Given the description of an element on the screen output the (x, y) to click on. 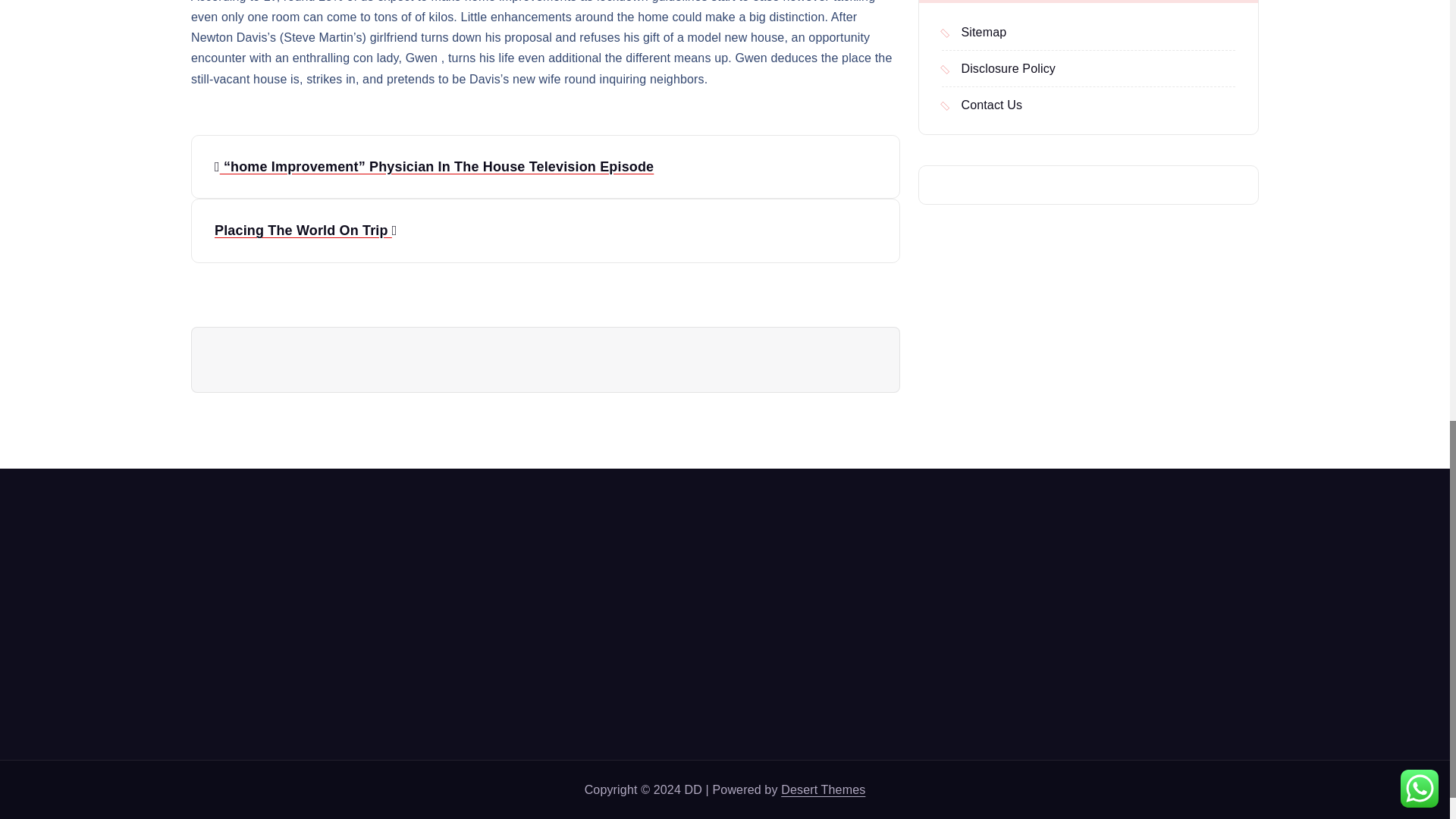
Placing The World On Trip (544, 230)
Sitemap (974, 32)
Contact Us (982, 105)
Disclosure Policy (998, 68)
